Given the description of an element on the screen output the (x, y) to click on. 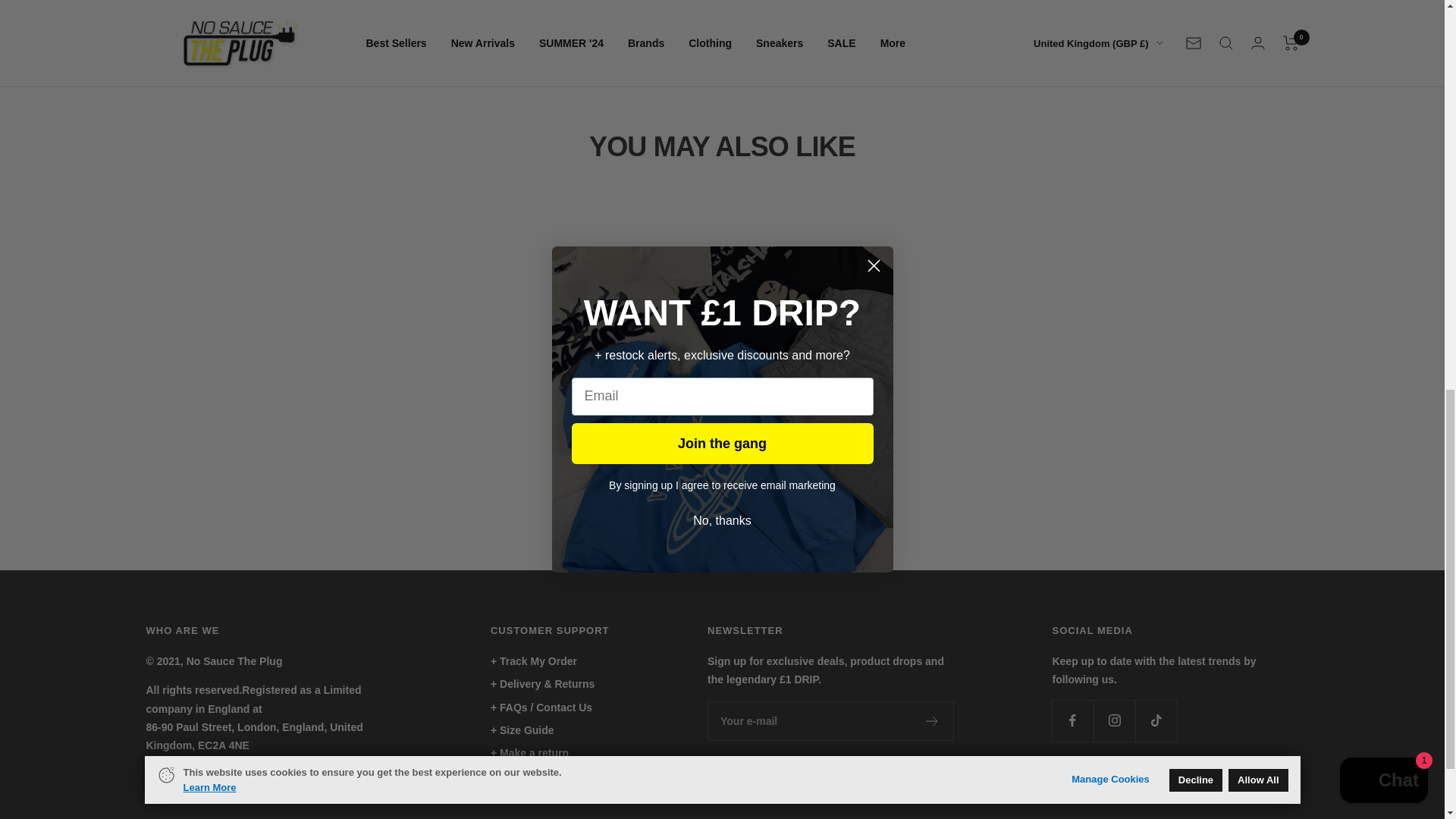
Register (932, 720)
